Given the description of an element on the screen output the (x, y) to click on. 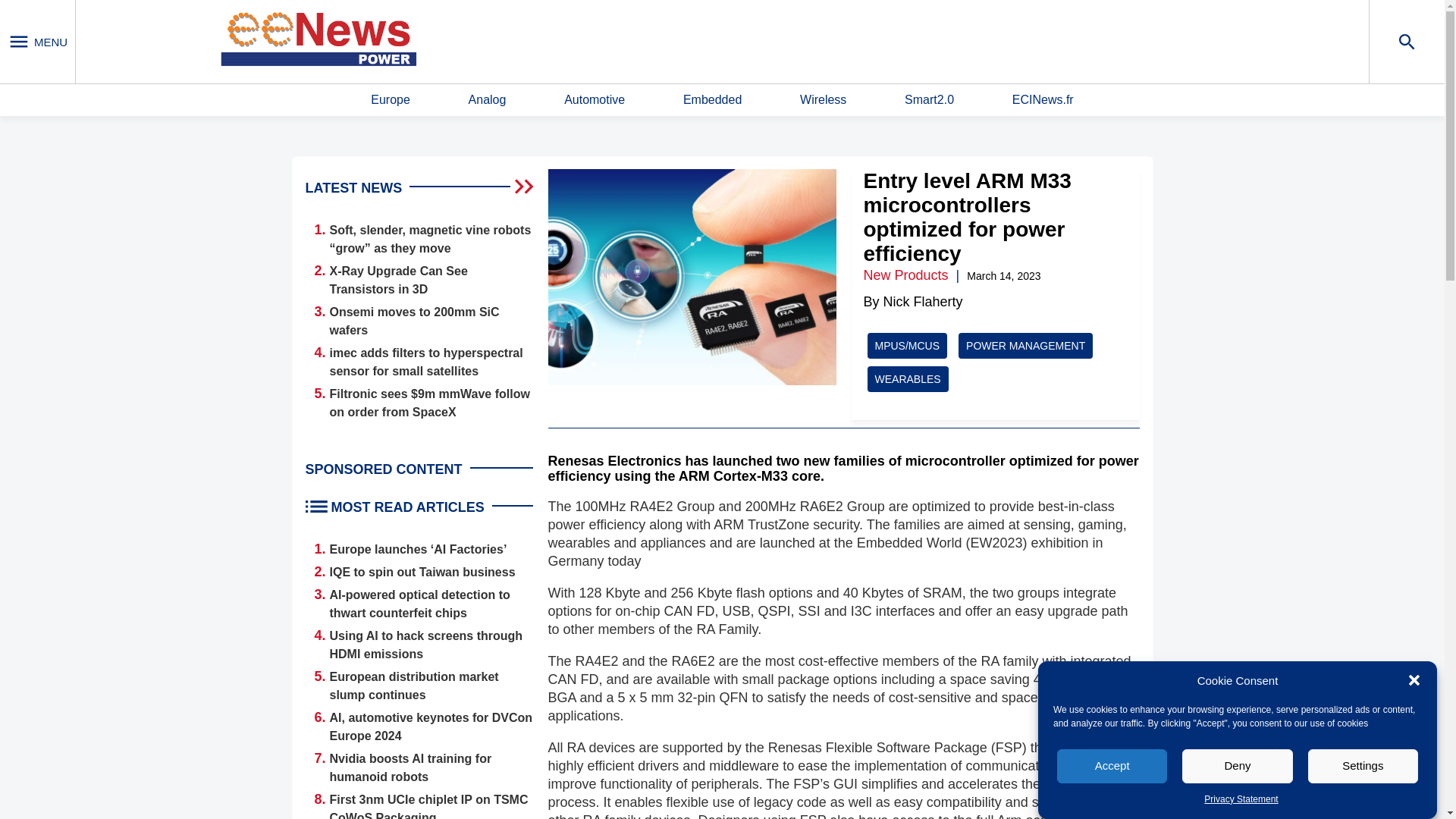
Smart2.0 (928, 99)
ECINews.fr (1042, 99)
Wireless (822, 99)
Europe (390, 99)
Automotive (594, 99)
Analog (487, 99)
Embedded (711, 99)
